Given the description of an element on the screen output the (x, y) to click on. 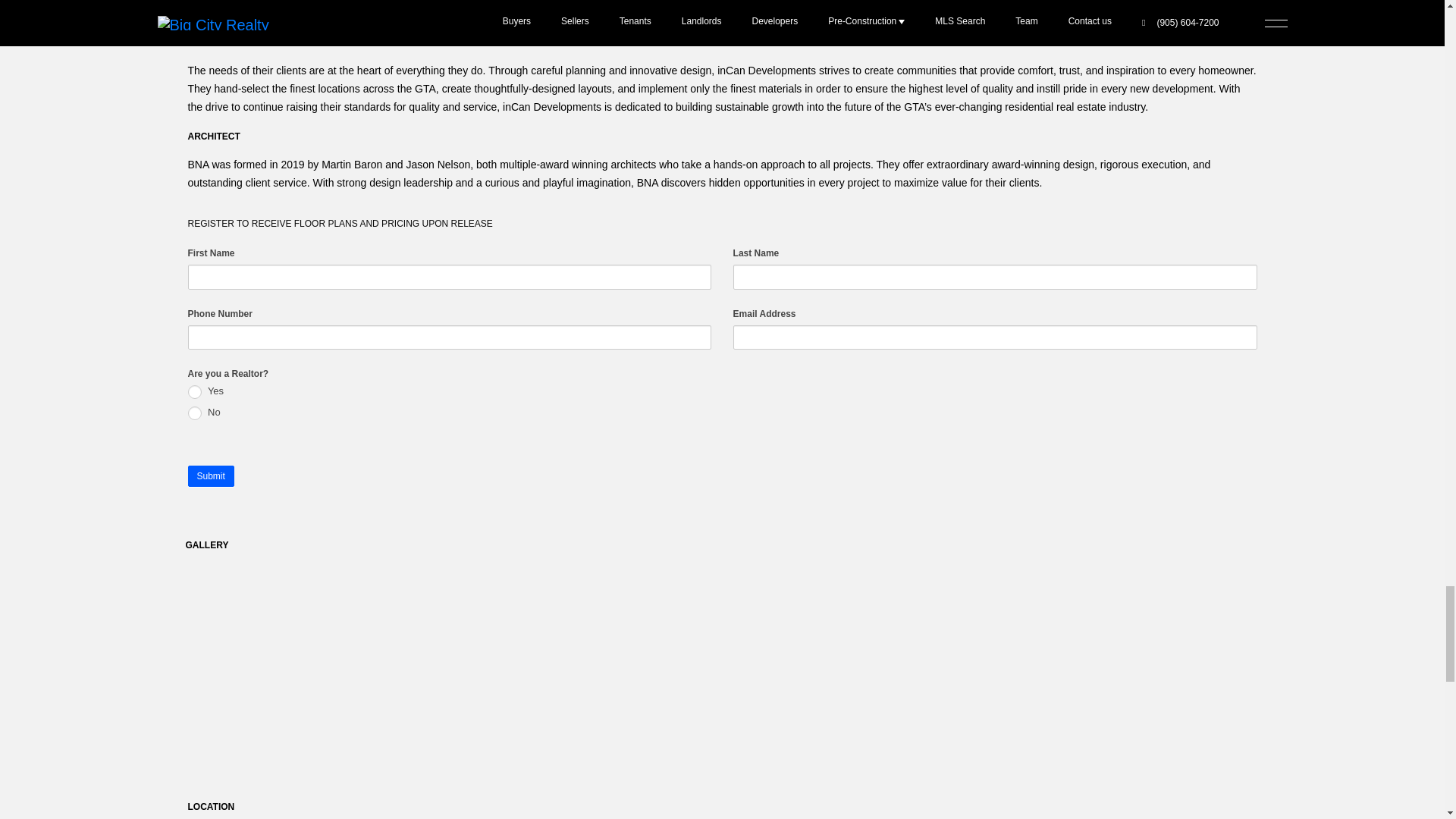
No (194, 413)
Yes (194, 391)
